Given the description of an element on the screen output the (x, y) to click on. 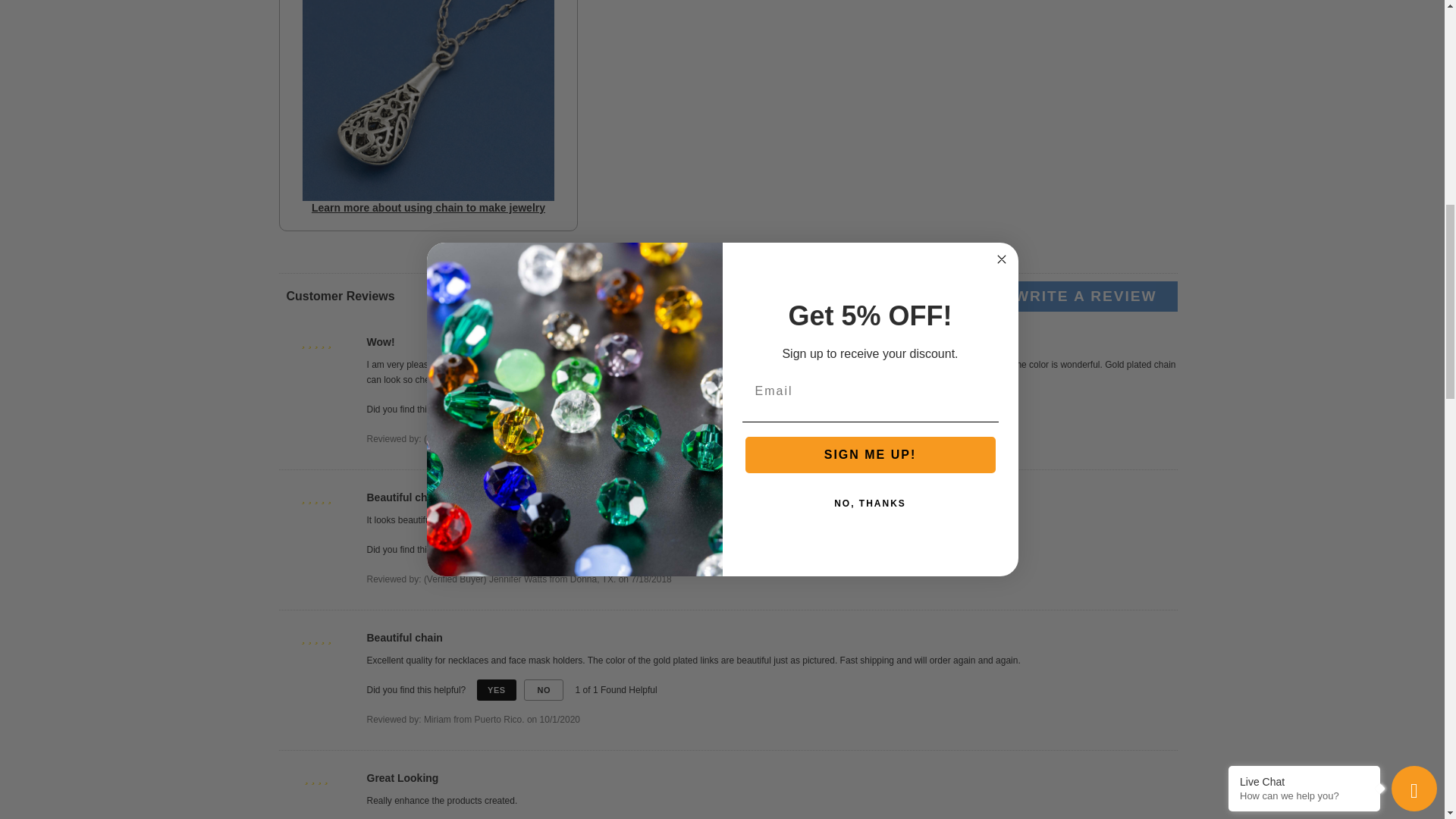
Yes (496, 690)
No (543, 690)
No (543, 409)
Yes (496, 409)
Yes (496, 549)
No (543, 549)
